Given the description of an element on the screen output the (x, y) to click on. 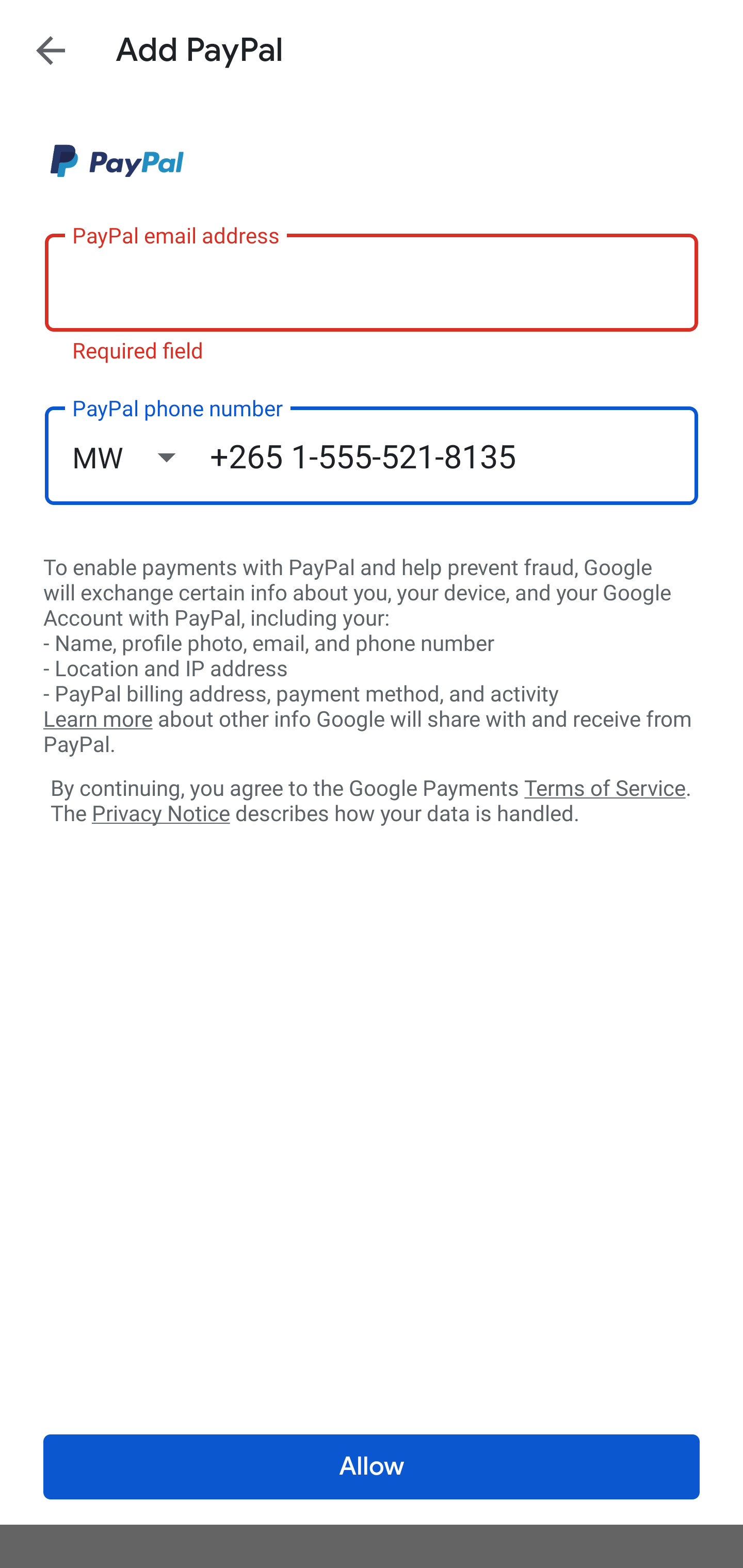
Navigate up (50, 50)
MW (141, 456)
Learn more (97, 719)
Terms of Service (604, 787)
Privacy Notice (160, 814)
Allow (371, 1466)
